Given the description of an element on the screen output the (x, y) to click on. 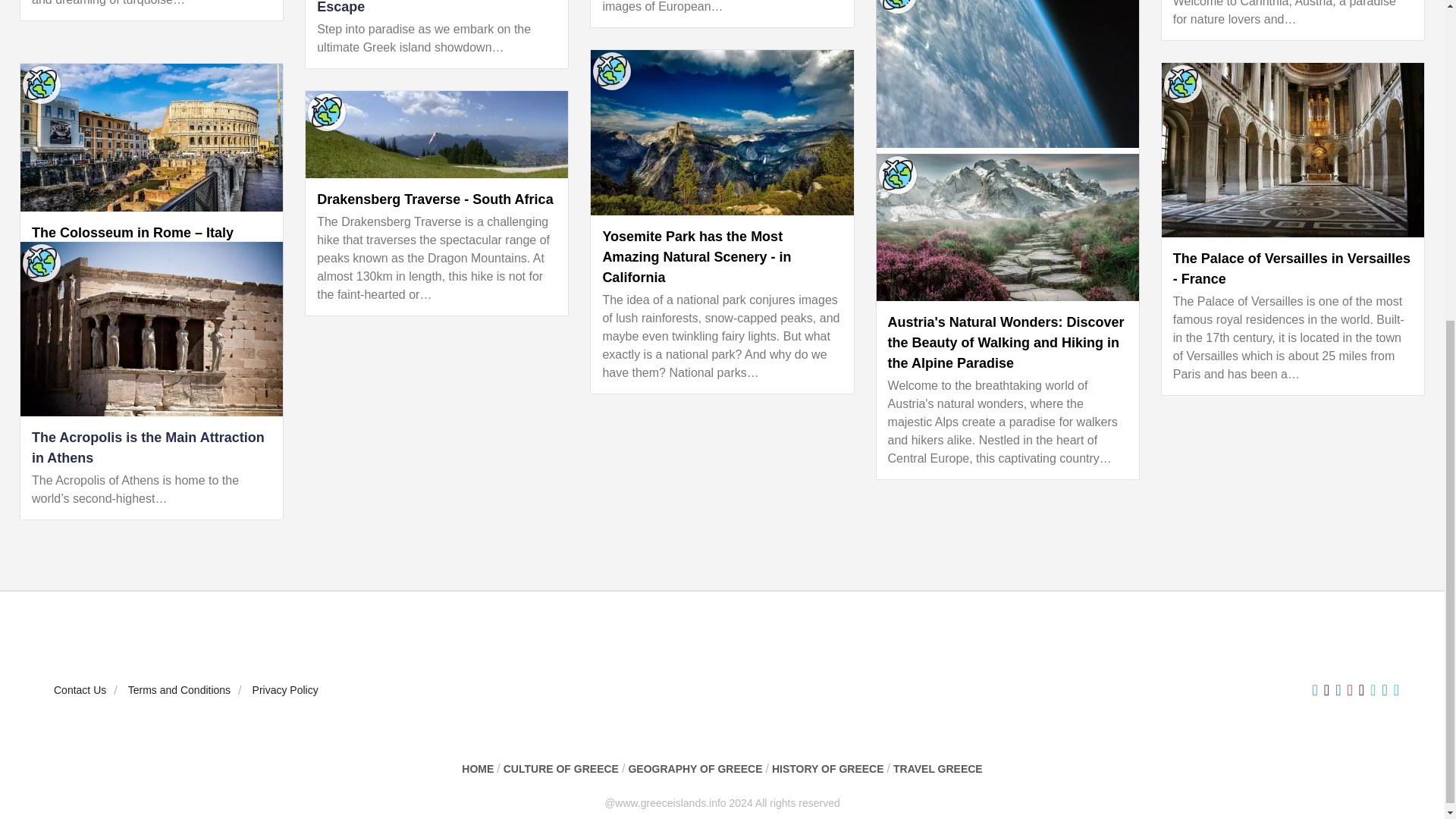
Contact Us (79, 689)
Terms and Conditions (178, 689)
TRAVEL GREECE (937, 769)
HISTORY OF GREECE (827, 769)
GEOGRAPHY OF GREECE (694, 769)
CULTURE OF GREECE (560, 769)
Privacy Policy (284, 689)
